Given the description of an element on the screen output the (x, y) to click on. 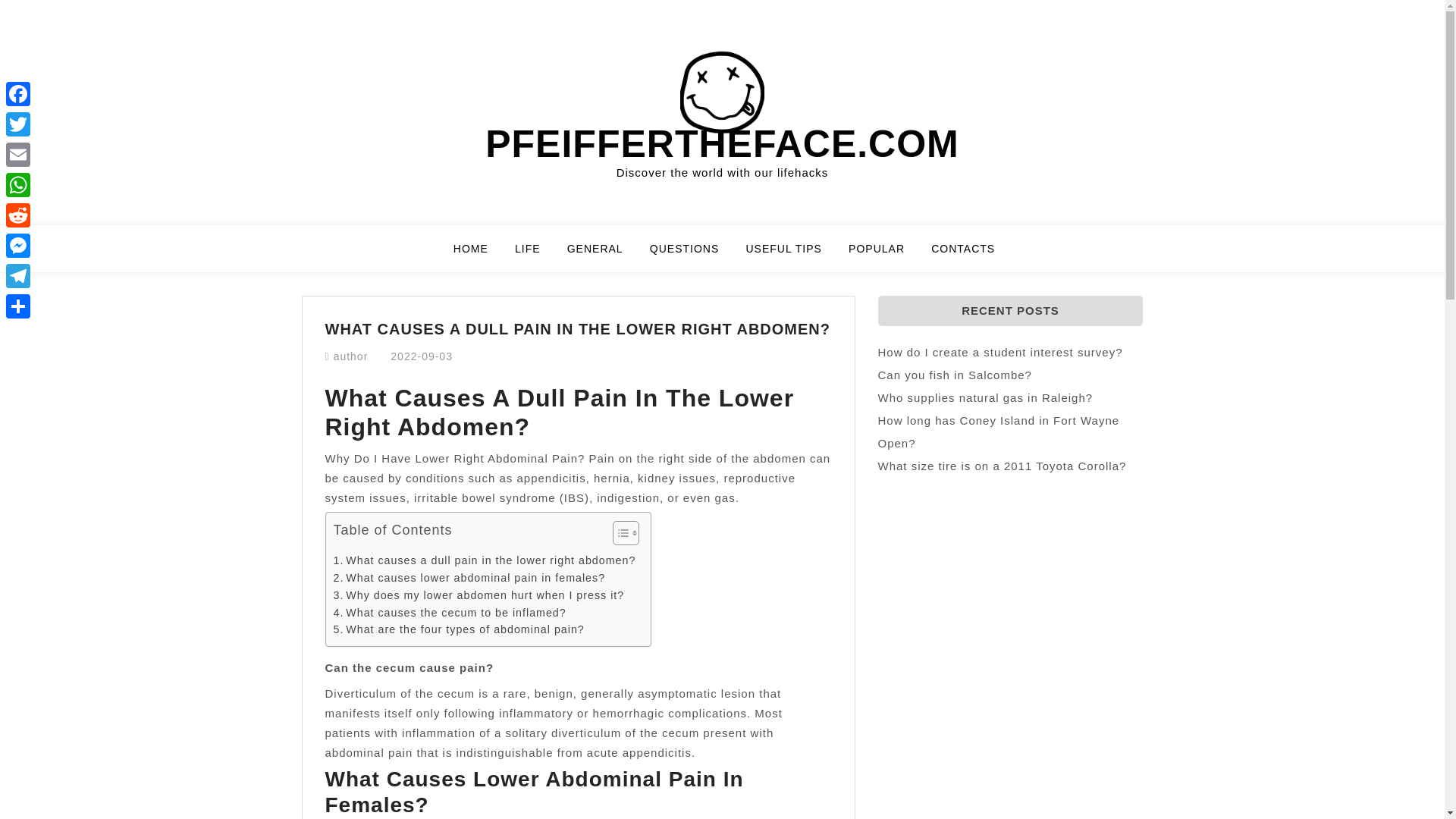
Why does my lower abdomen hurt when I press it? (478, 595)
What causes lower abdominal pain in females? (469, 578)
PFEIFFERTHEFACE.COM (721, 143)
What are the four types of abdominal pain? (459, 629)
What causes a dull pain in the lower right abdomen? (484, 560)
What causes a dull pain in the lower right abdomen? (484, 560)
CONTACTS (962, 255)
LIFE (537, 255)
author (350, 356)
Reddit (17, 214)
